Given the description of an element on the screen output the (x, y) to click on. 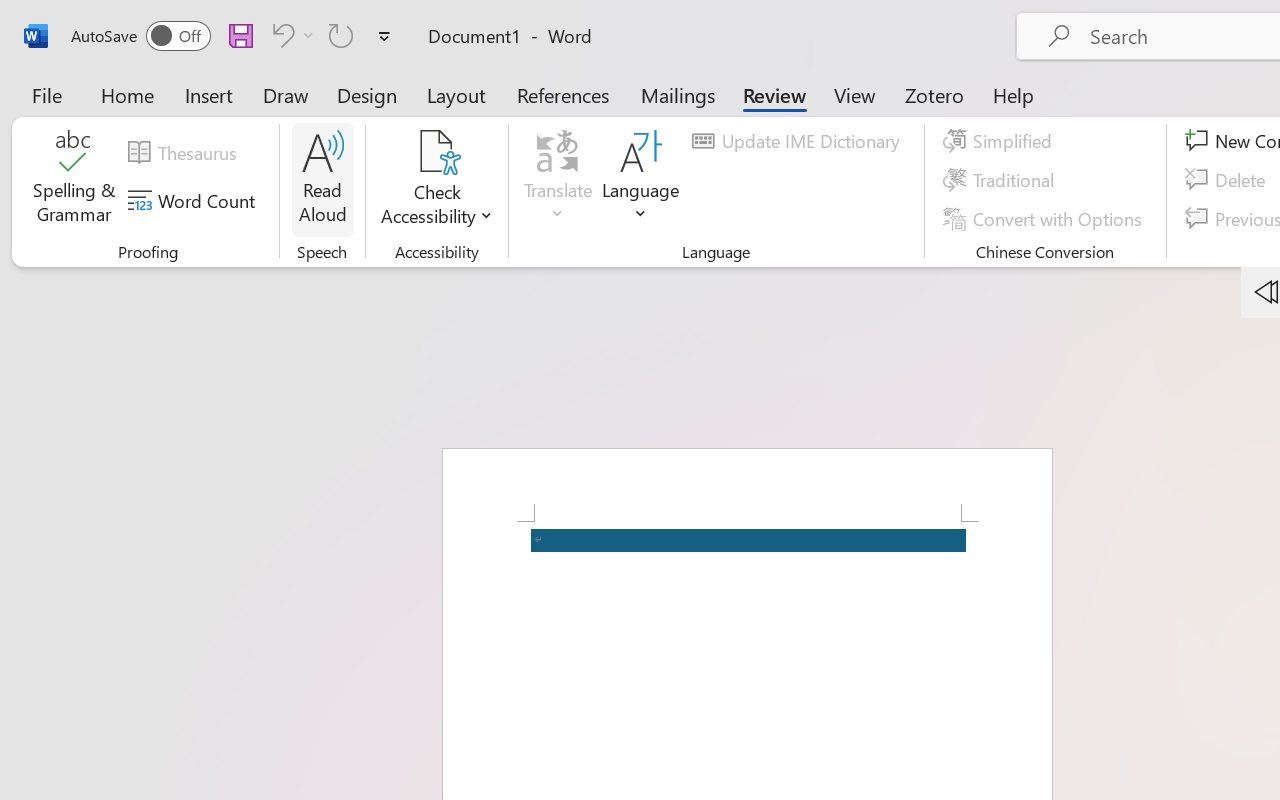
Convert with Options... (1045, 218)
Simplified (1000, 141)
Word Count (194, 201)
Repeat Accessibility Checker (341, 35)
Thesaurus... (185, 153)
Language (641, 179)
